Given the description of an element on the screen output the (x, y) to click on. 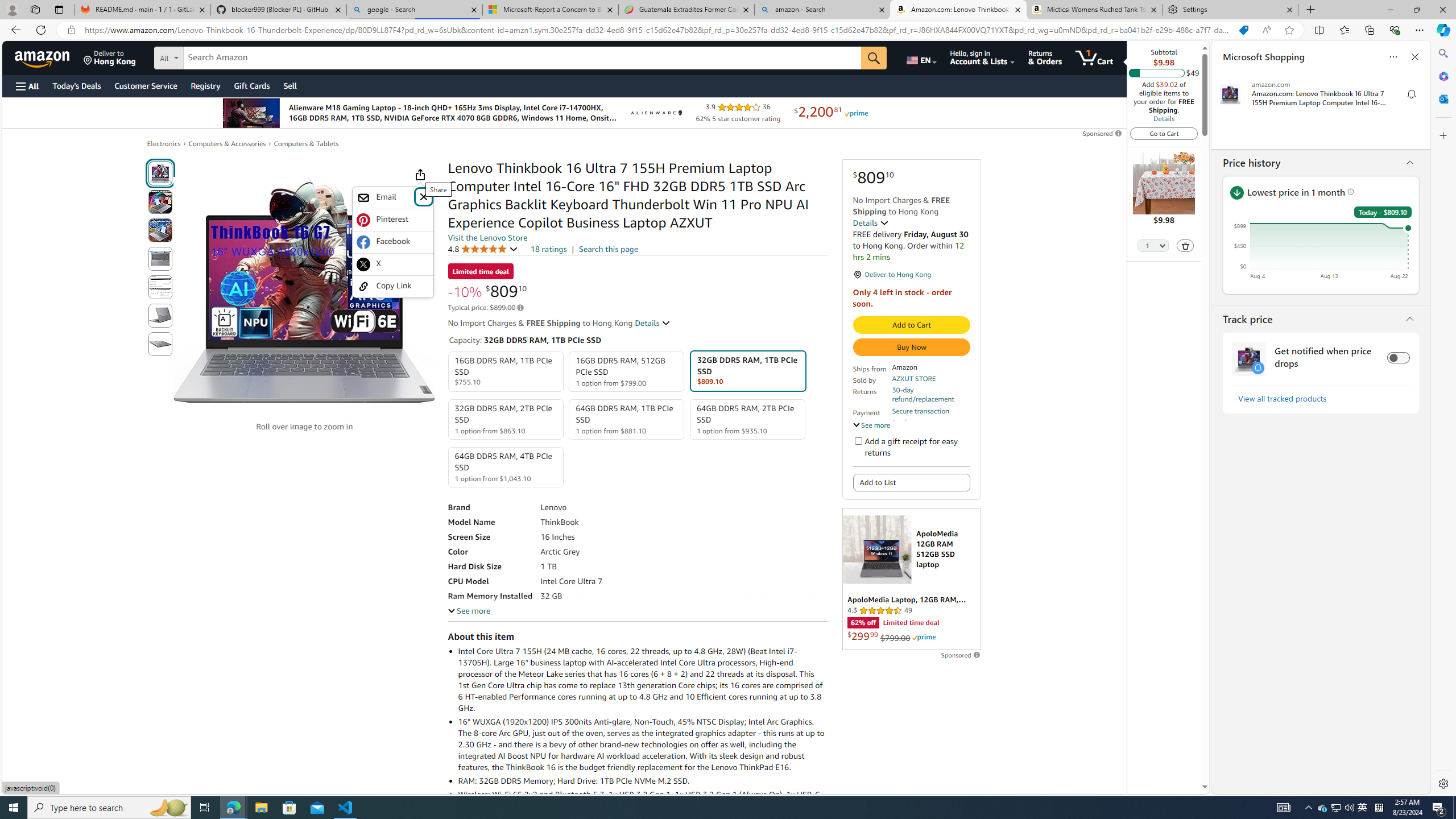
Computers & Accessories (226, 143)
Skip to main content (48, 56)
Registry (205, 85)
16GB DDR5 RAM, 1TB PCIe SSD $755.10 (505, 371)
Share (419, 174)
Facebook (392, 241)
Computers & Tablets (306, 144)
amazon - Search (822, 9)
